Given the description of an element on the screen output the (x, y) to click on. 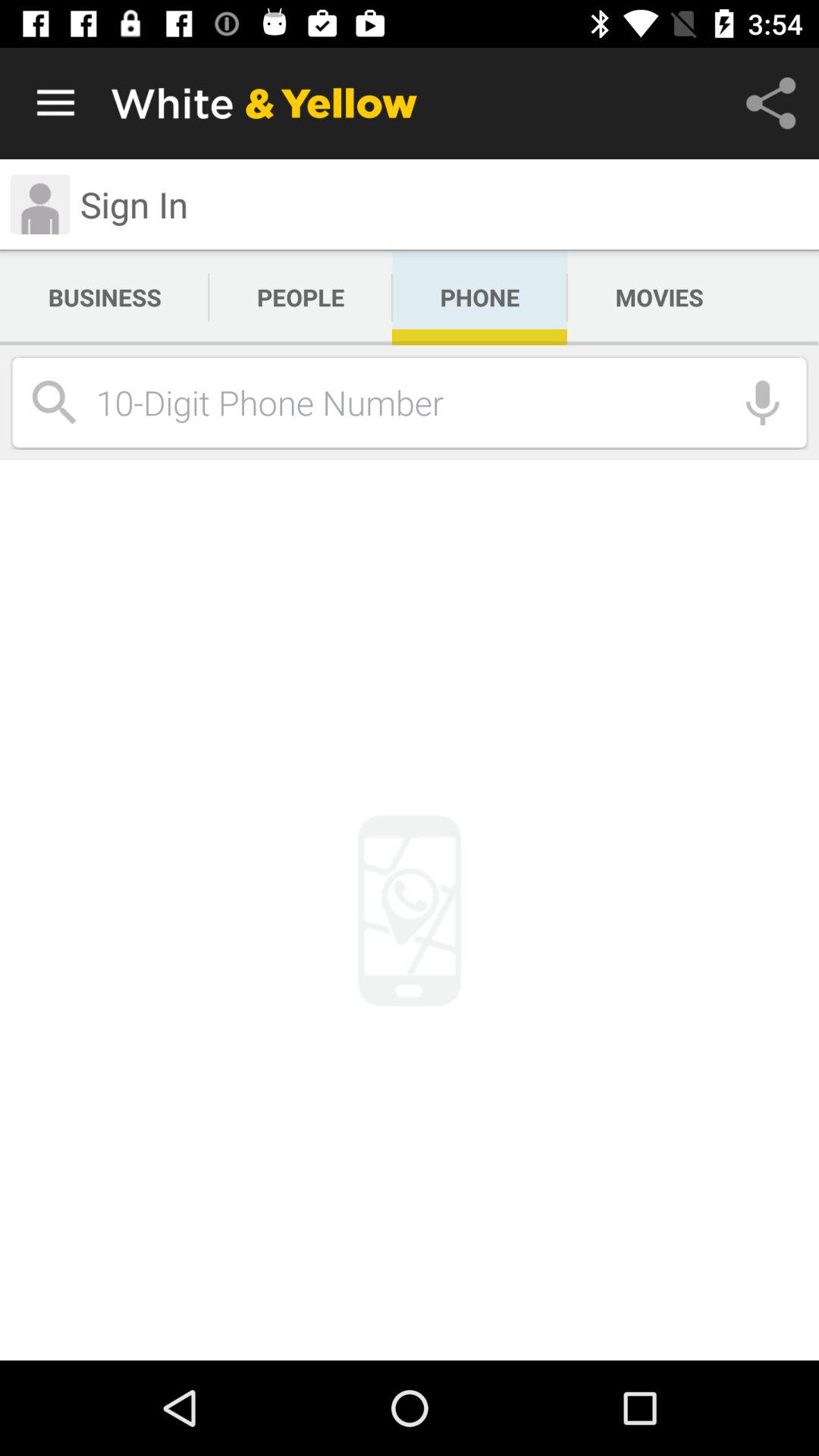
press icon to the right of phone icon (659, 297)
